Given the description of an element on the screen output the (x, y) to click on. 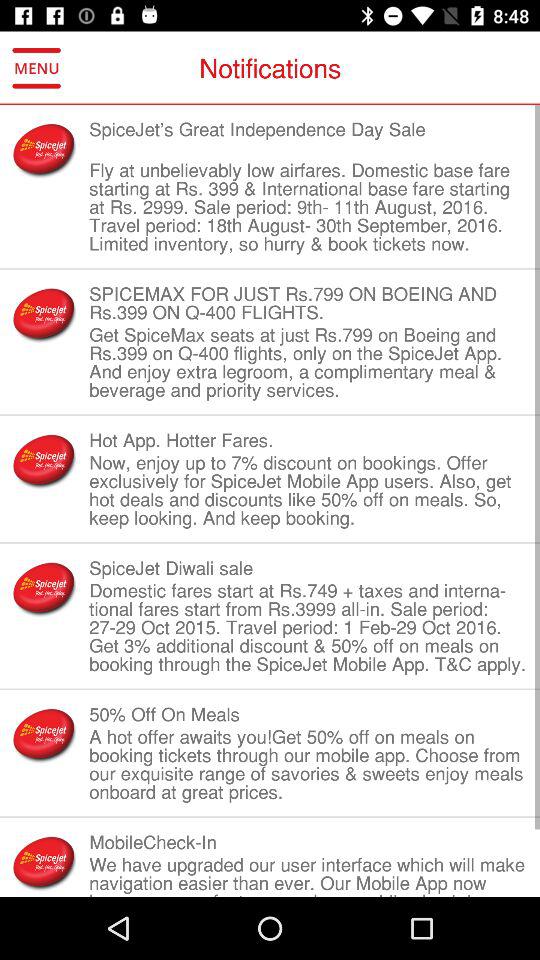
open icon to the left of the mobilecheck-in (44, 862)
